Given the description of an element on the screen output the (x, y) to click on. 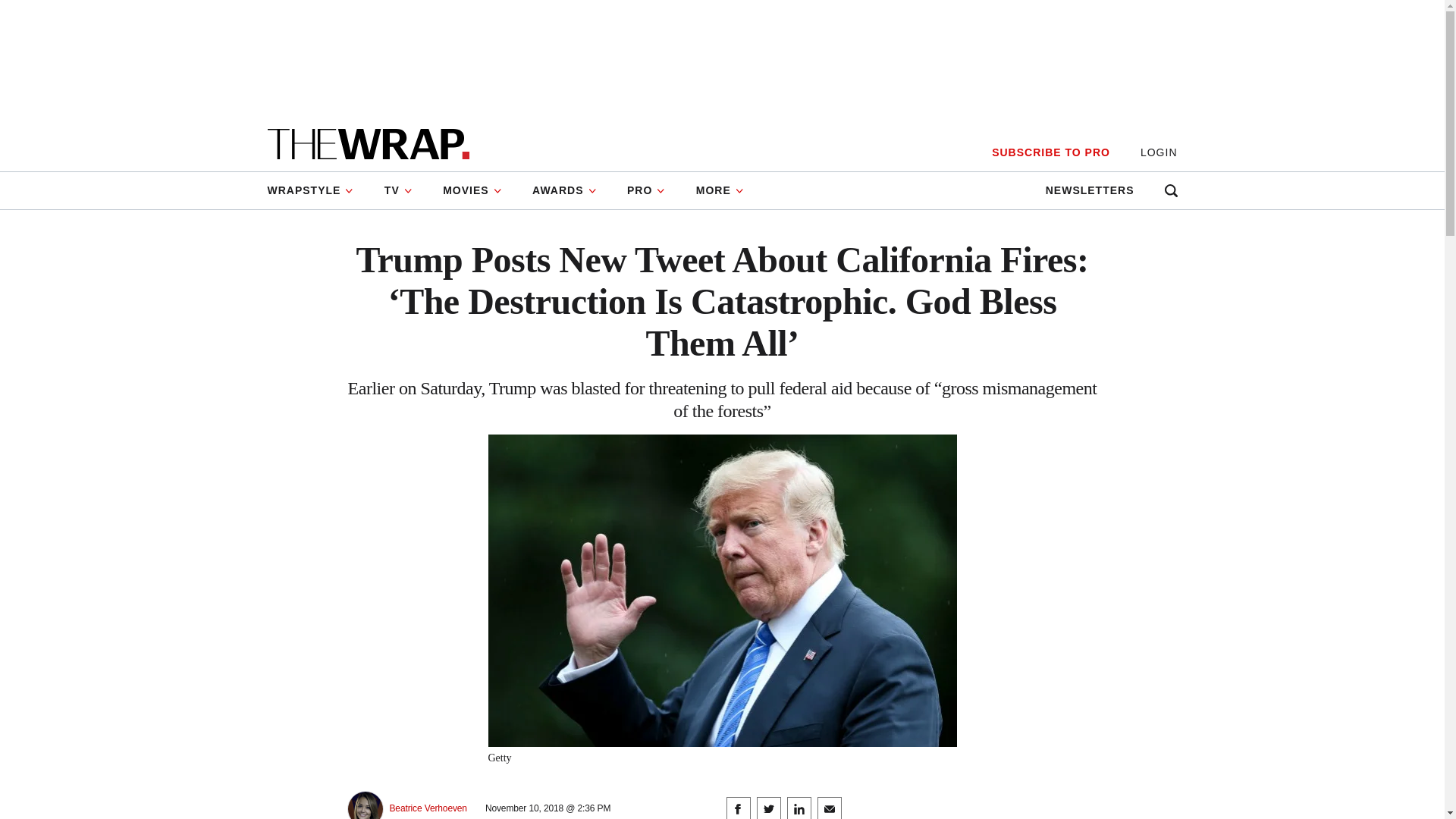
AWARDS (563, 190)
TV (398, 190)
PRO (646, 190)
Posts by Beatrice Verhoeven (428, 808)
MOVIES (472, 190)
WRAPSTYLE (317, 190)
MORE (719, 190)
SUBSCRIBE TO PRO (1050, 152)
LOGIN (1158, 152)
